Given the description of an element on the screen output the (x, y) to click on. 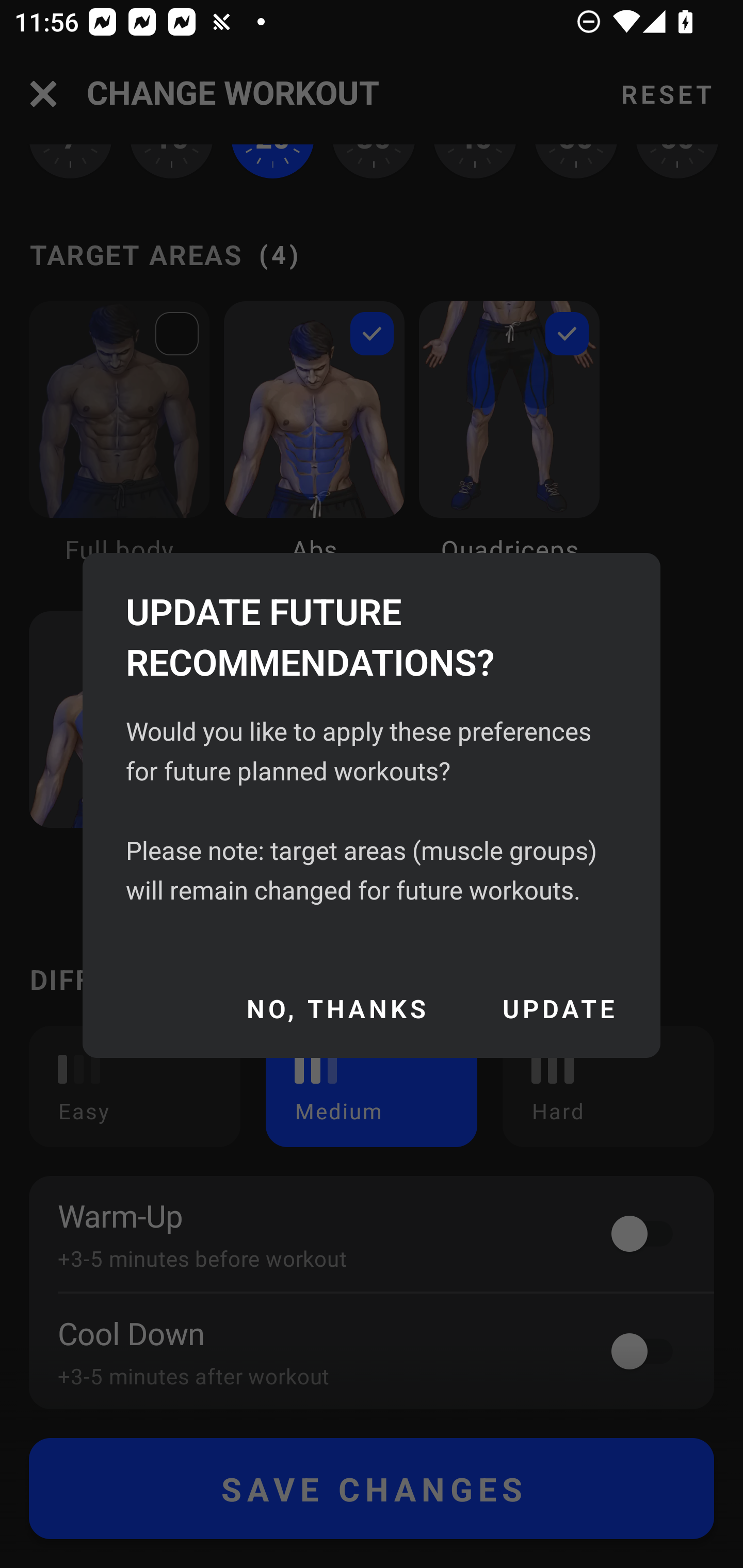
NO, THANKS (335, 1008)
UPDATE (558, 1008)
